Given the description of an element on the screen output the (x, y) to click on. 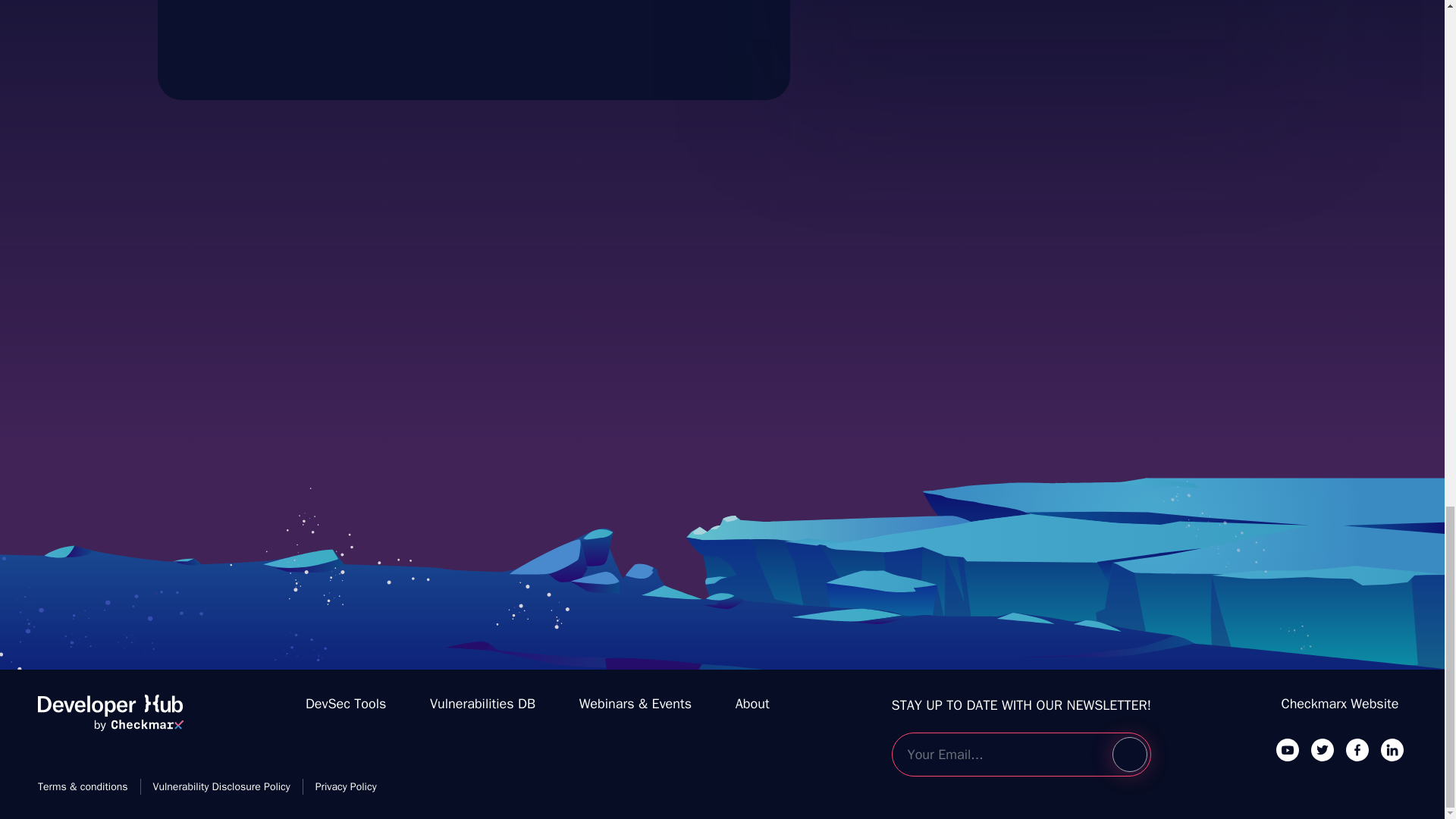
About (752, 703)
Goto website home page (110, 719)
Follow us on Youtube (1287, 749)
Follow us on Linkedin (1391, 749)
Follow us on Twitter (1322, 749)
Follow us on Facebook (1356, 749)
Submit form (1129, 754)
Privacy Policy (346, 786)
Checkmarx Website (1340, 703)
Vulnerabilities DB (482, 703)
Vulnerability Disclosure Policy (220, 786)
DevSec Tools (345, 703)
